Given the description of an element on the screen output the (x, y) to click on. 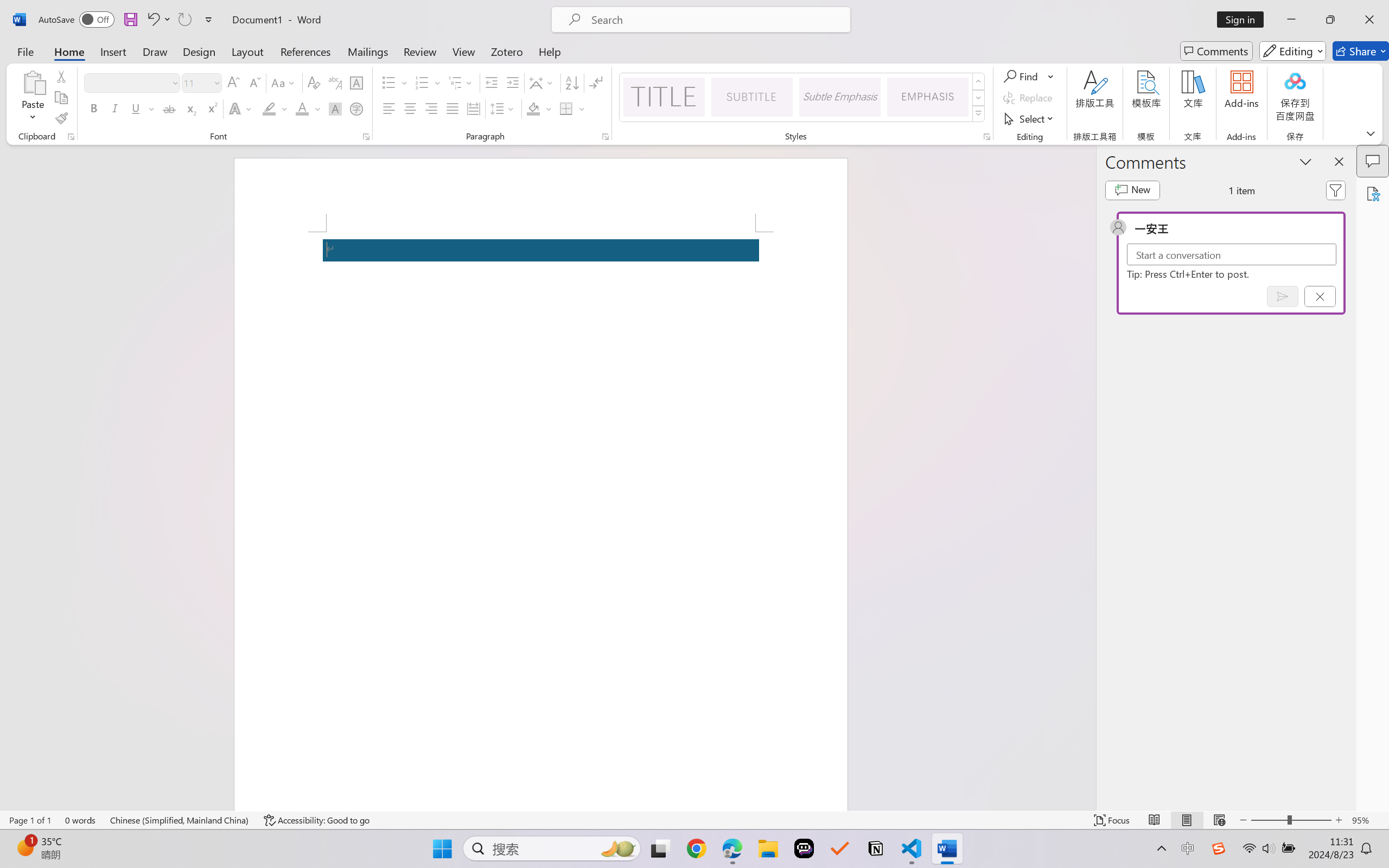
Emphasis (927, 96)
